Given the description of an element on the screen output the (x, y) to click on. 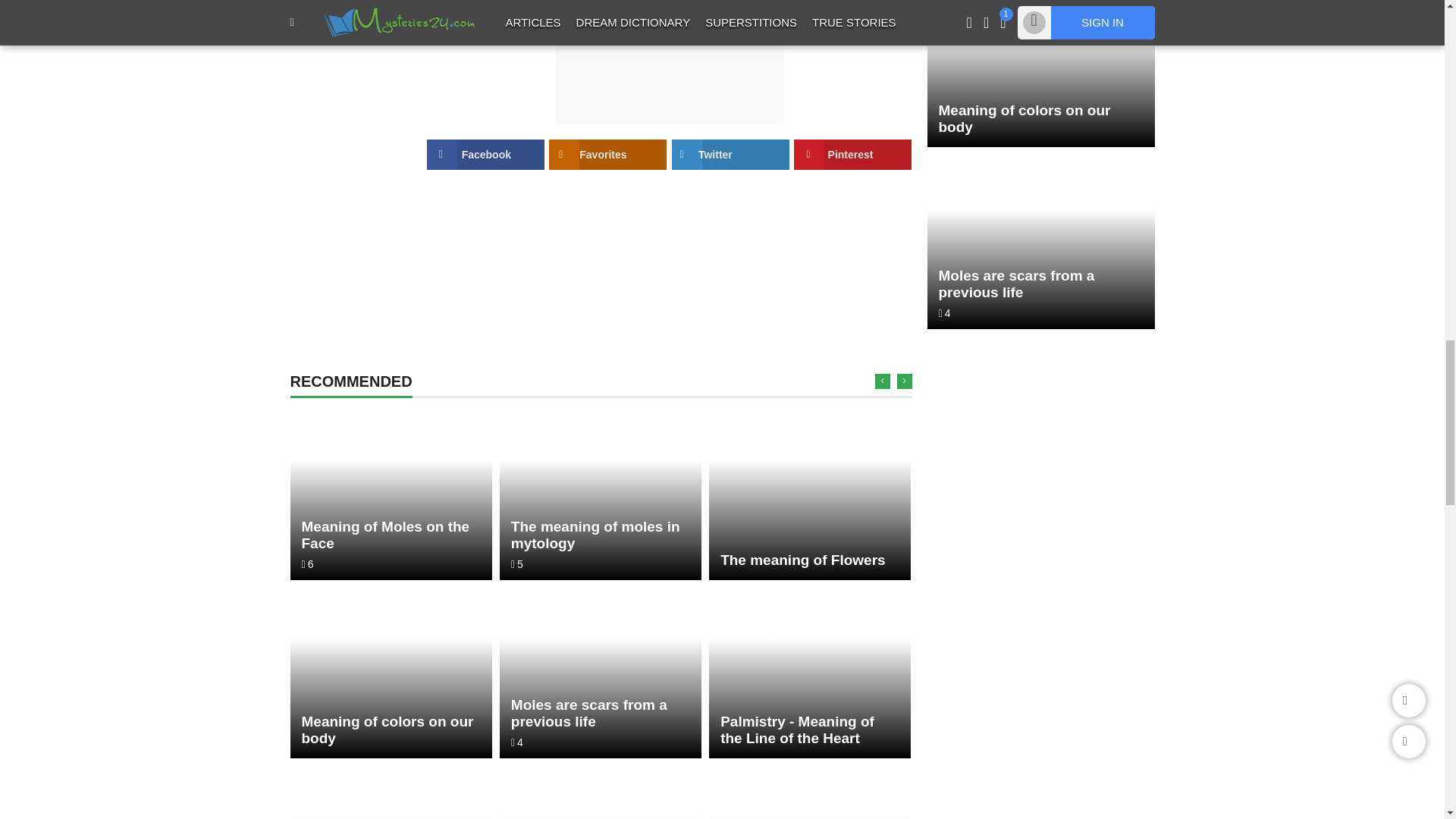
The meaning of moles in mytology (600, 494)
Share this page on Pinterest (852, 154)
The meanings of birthmarks (390, 792)
Meaning of colors on our body (1040, 73)
Add to favorites (607, 154)
Moles are scars from a previous life (600, 673)
Palmistry - Meaning of the Girdle of Venus (810, 792)
Palmistry - Meaning of the Line of the Heart (810, 673)
The meaning of Flowers (810, 494)
Your dreams on the night of Saturday to Sunday (600, 792)
Share this page on Twitter (730, 154)
Meaning of colors on our body (390, 673)
Meaning of Moles on the Face (390, 494)
Share this page on Facebook (484, 154)
Moles are scars from a previous life (1040, 243)
